Given the description of an element on the screen output the (x, y) to click on. 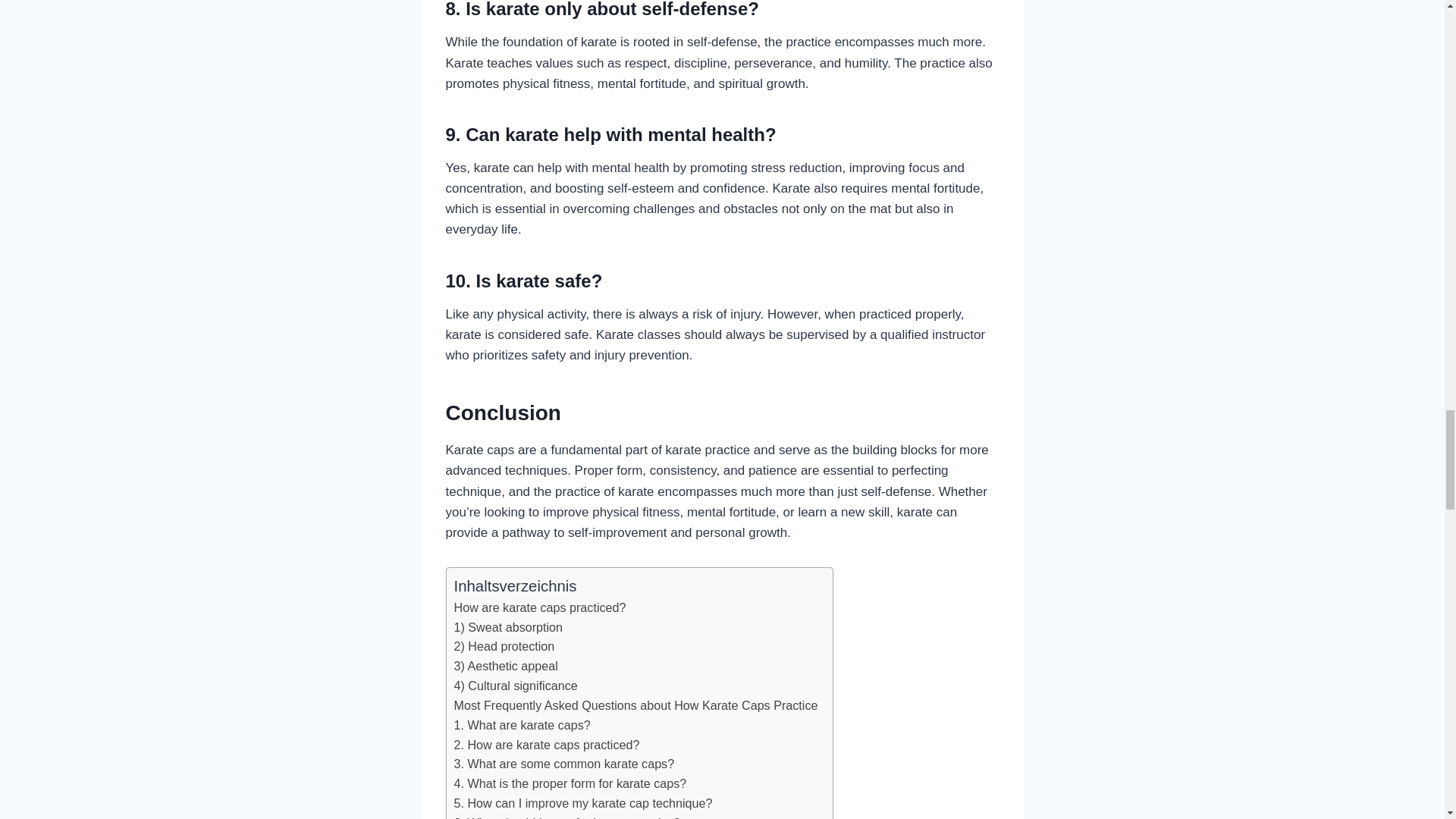
1. What are karate caps? (520, 725)
3. What are some common karate caps? (563, 763)
5. How can I improve my karate cap technique? (581, 803)
5. How can I improve my karate cap technique? (581, 803)
4. What is the proper form for karate caps? (568, 783)
4. What is the proper form for karate caps? (568, 783)
How are karate caps practiced? (539, 608)
2. How are karate caps practiced? (545, 745)
1. What are karate caps? (520, 725)
